Given the description of an element on the screen output the (x, y) to click on. 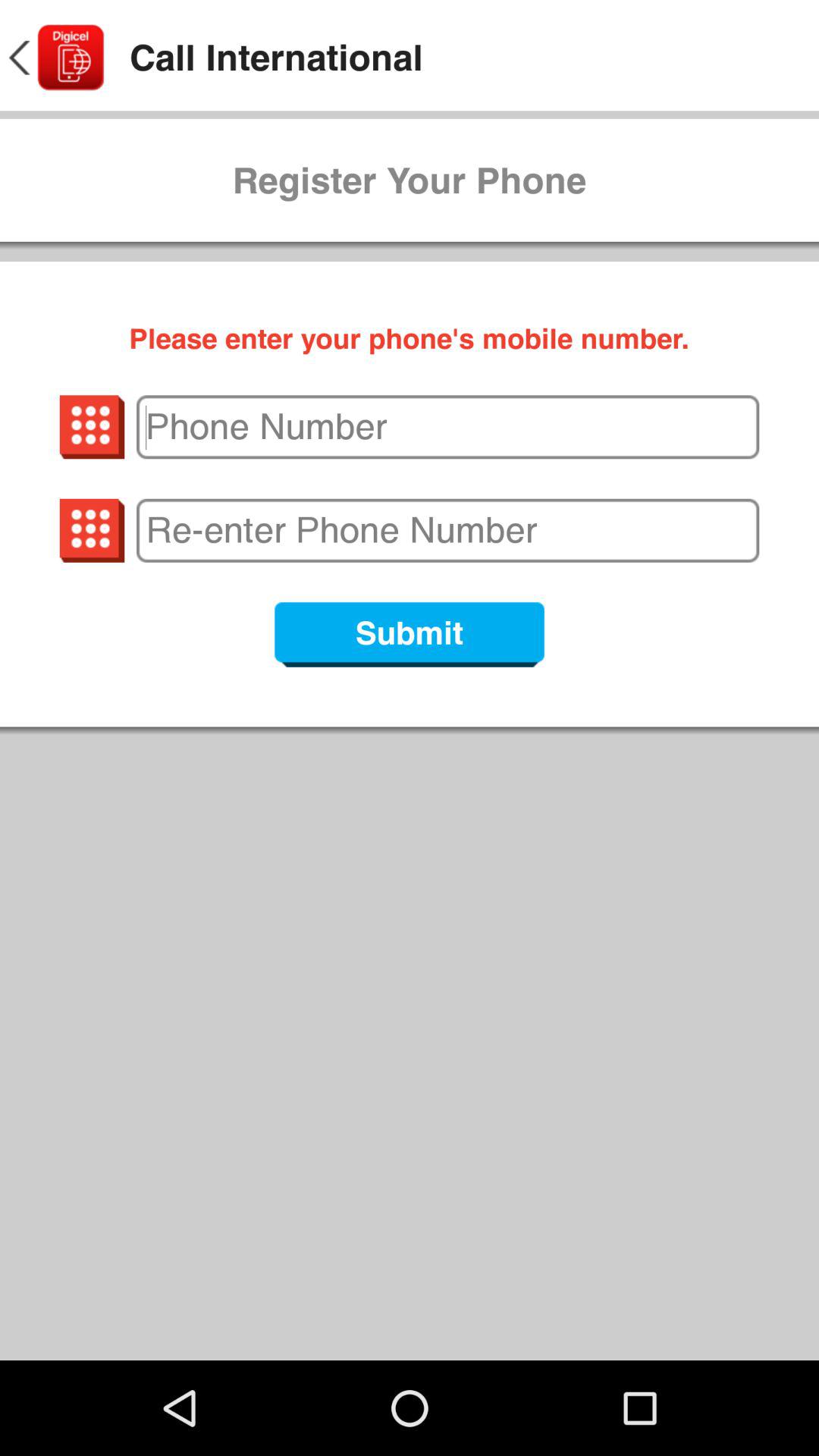
enter phone number (447, 426)
